Given the description of an element on the screen output the (x, y) to click on. 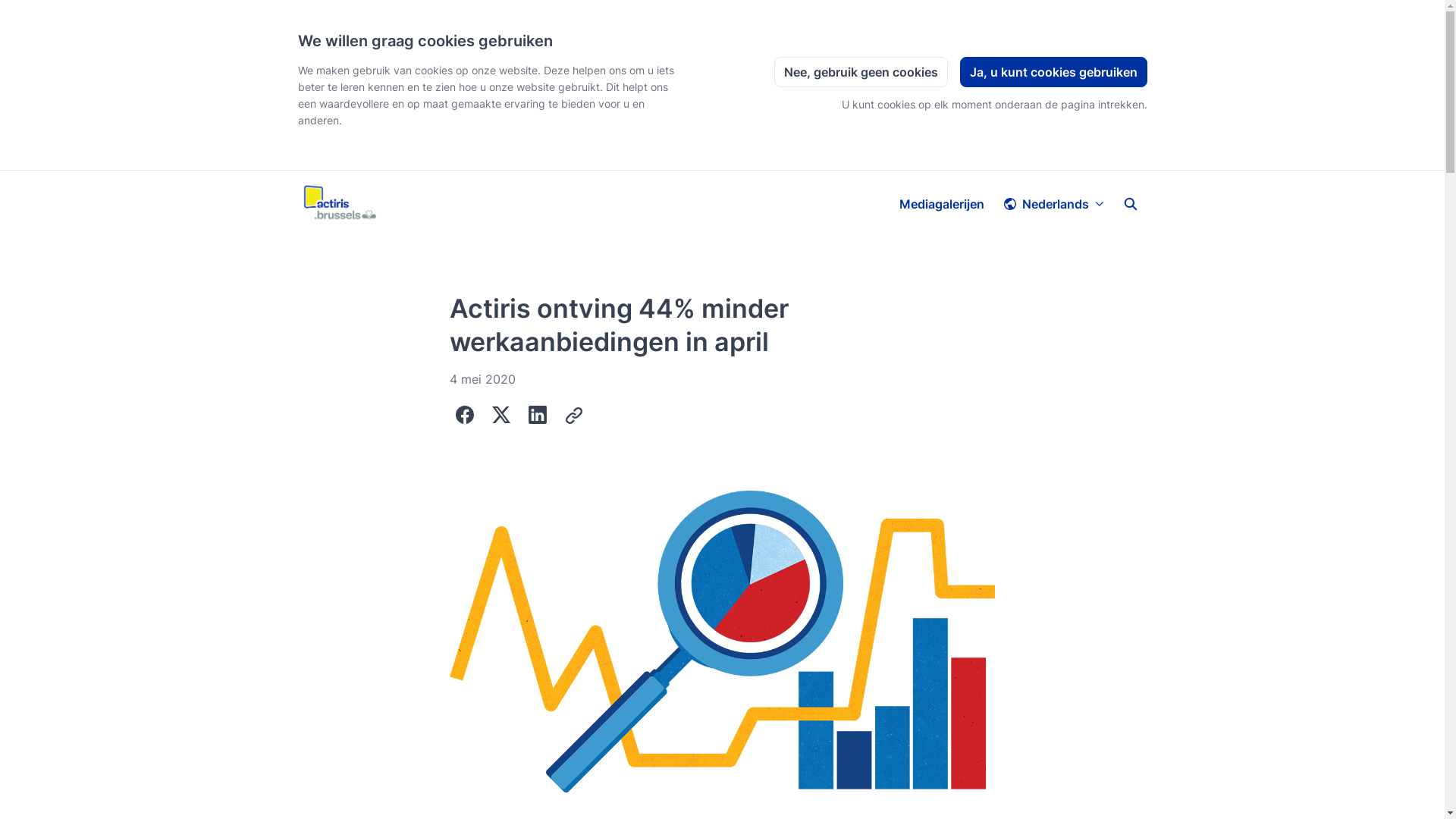
Nee, gebruik geen cookies Element type: text (860, 71)
Nederlands Element type: text (1053, 203)
ACTIRIS Element type: text (339, 203)
Zoeken Element type: hover (1129, 203)
Ja, u kunt cookies gebruiken Element type: text (1053, 71)
Mediagalerijen Element type: text (940, 203)
